Given the description of an element on the screen output the (x, y) to click on. 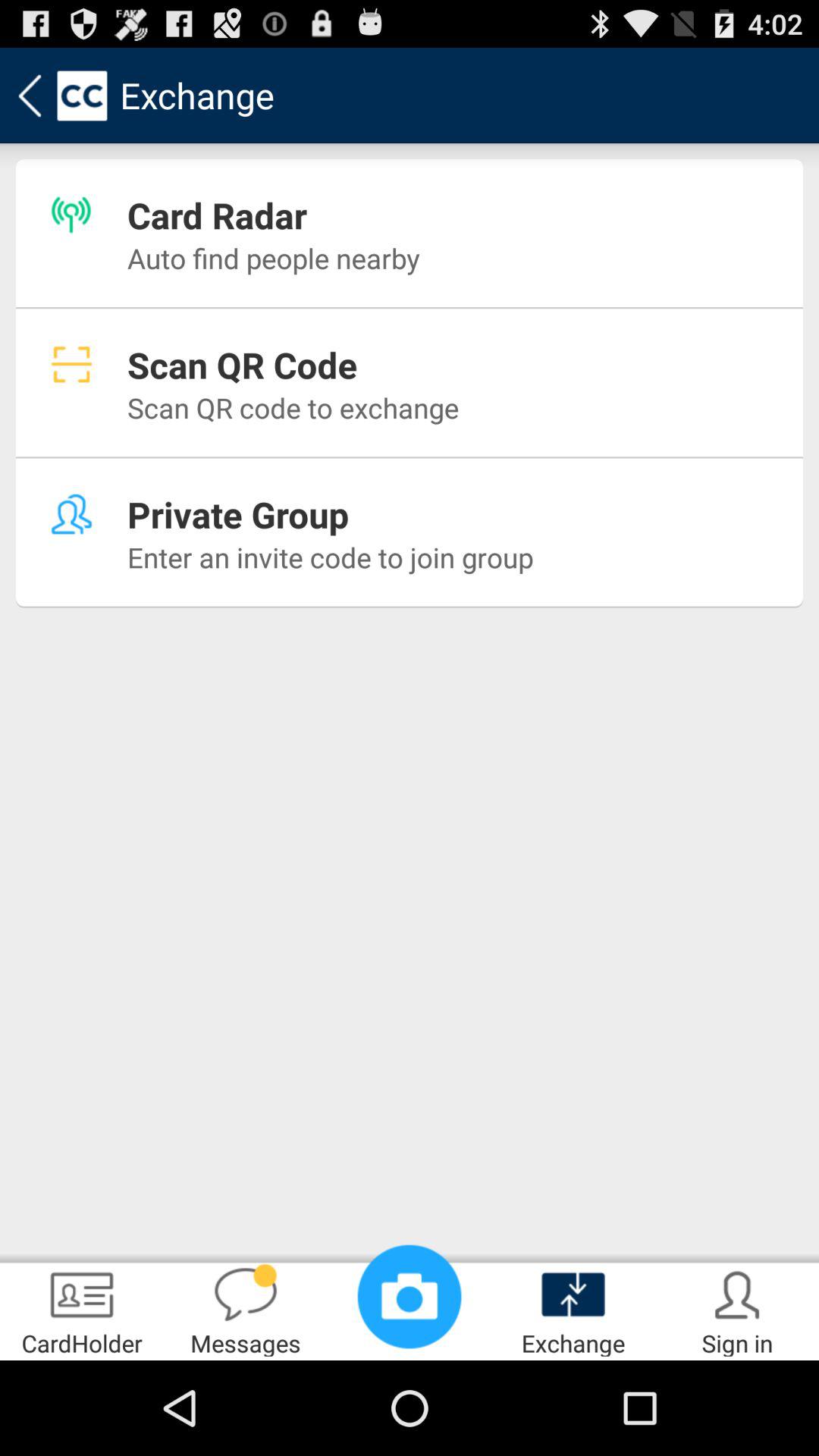
open the messages icon (245, 1309)
